Given the description of an element on the screen output the (x, y) to click on. 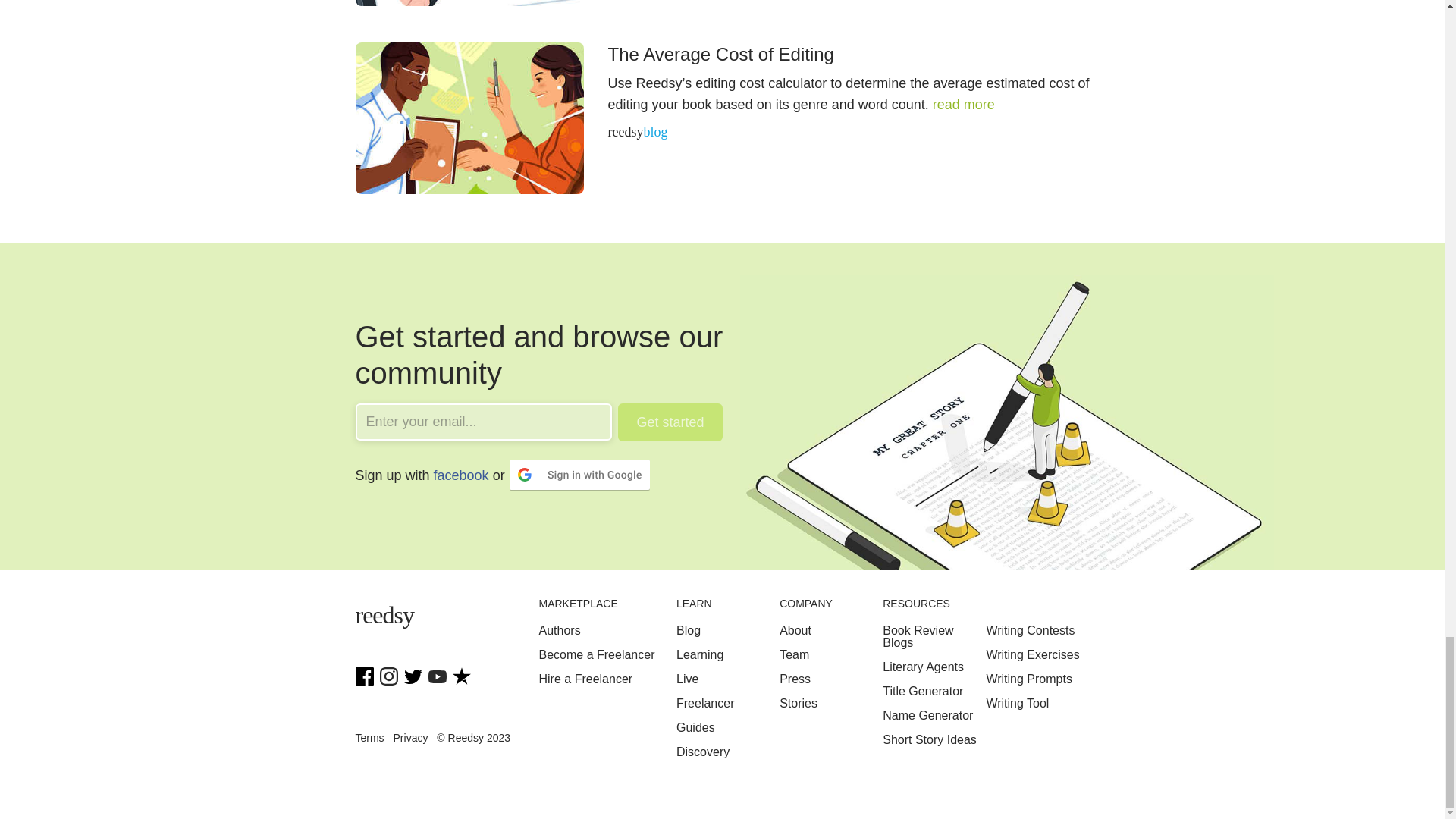
Get started (669, 422)
